Given the description of an element on the screen output the (x, y) to click on. 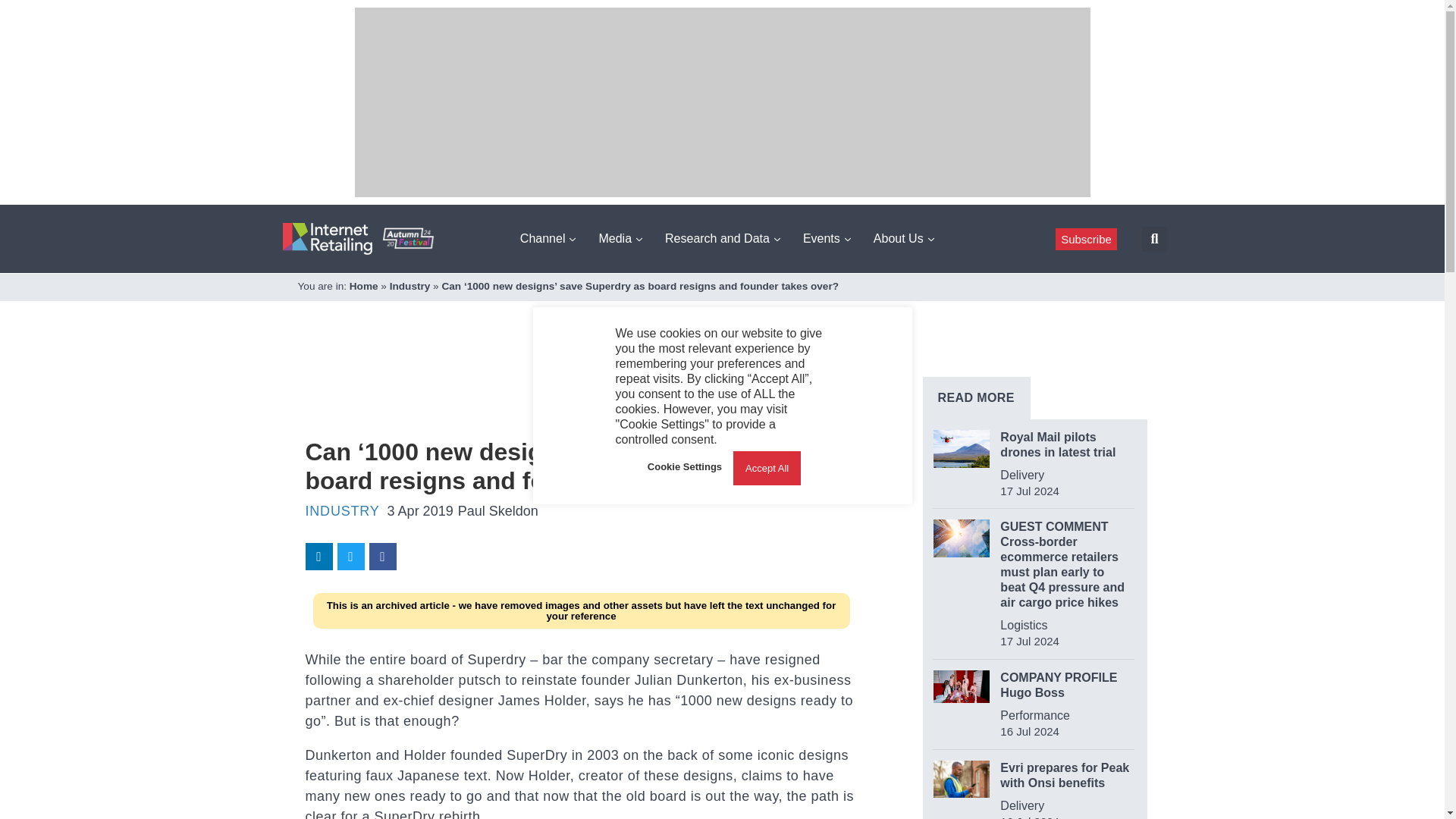
3rd party ad content (580, 387)
Media (620, 238)
Channel (547, 238)
Research and Data (722, 238)
